Given the description of an element on the screen output the (x, y) to click on. 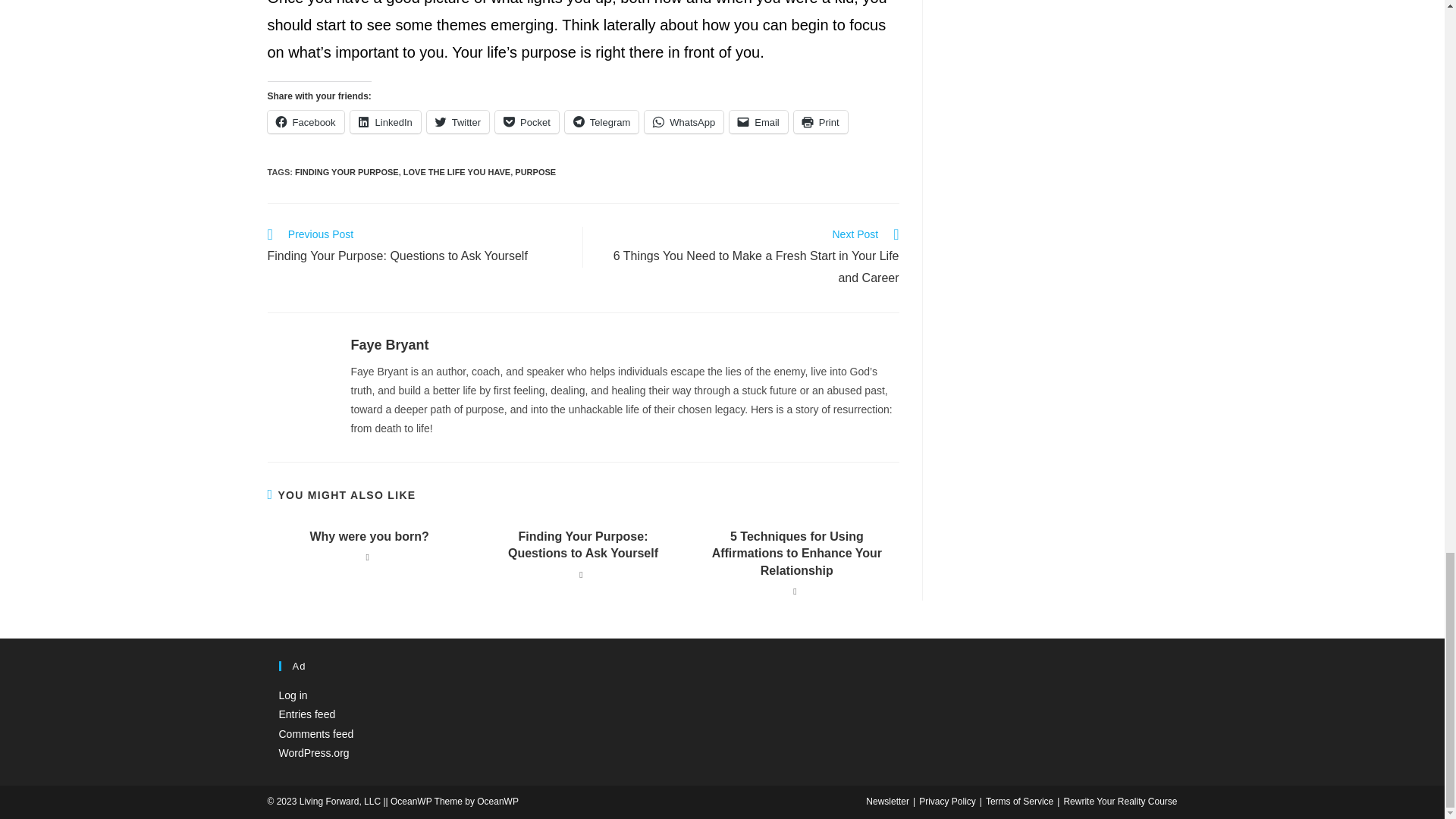
Visit author page (389, 344)
Click to share on Pocket (527, 121)
Click to share on Facebook (304, 121)
Click to print (820, 121)
Click to share on Telegram (601, 121)
Click to share on Twitter (457, 121)
Facebook (304, 121)
Click to share on LinkedIn (385, 121)
Click to email a link to a friend (758, 121)
Click to share on WhatsApp (684, 121)
